Given the description of an element on the screen output the (x, y) to click on. 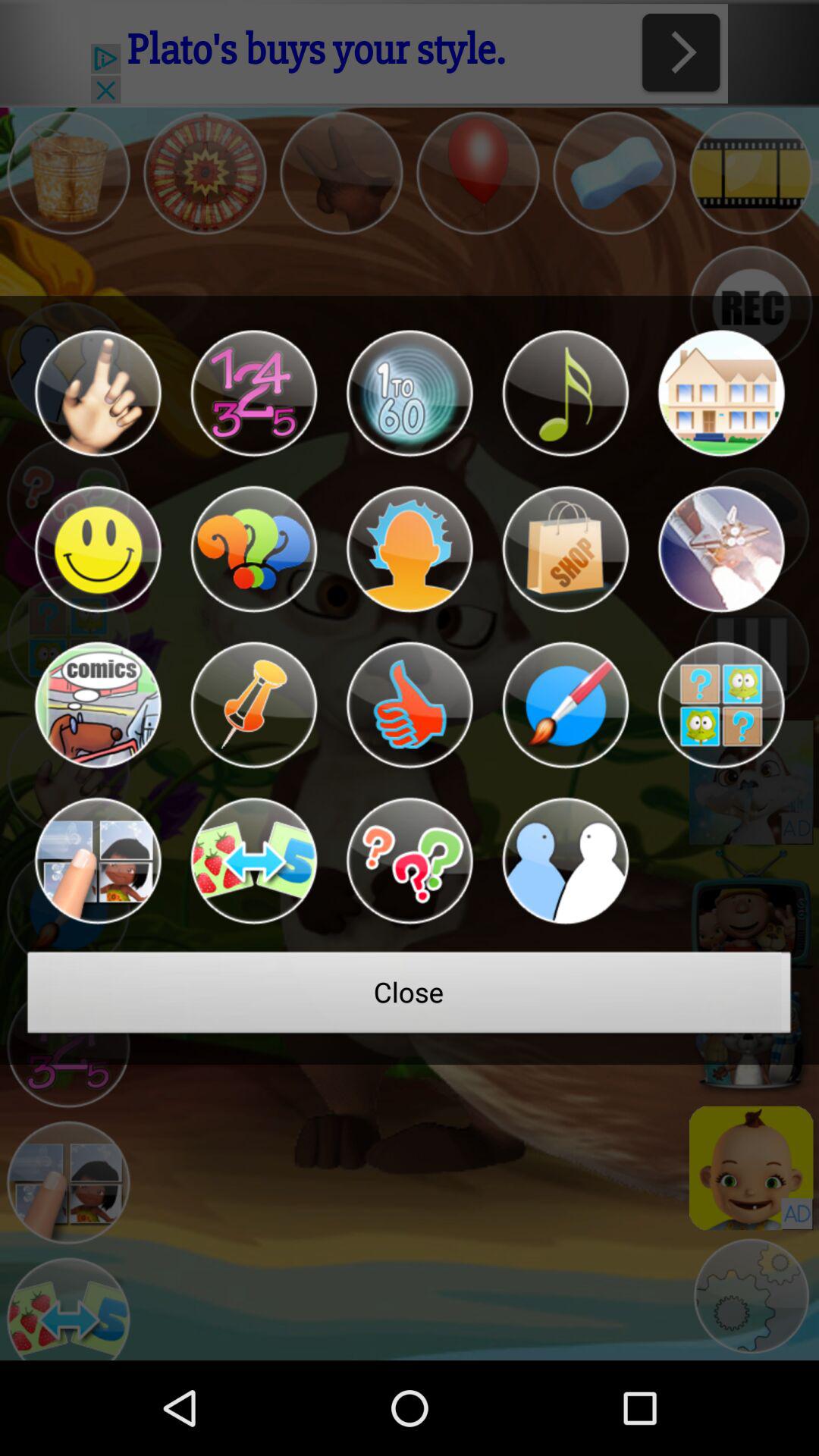
select icon (97, 705)
